Given the description of an element on the screen output the (x, y) to click on. 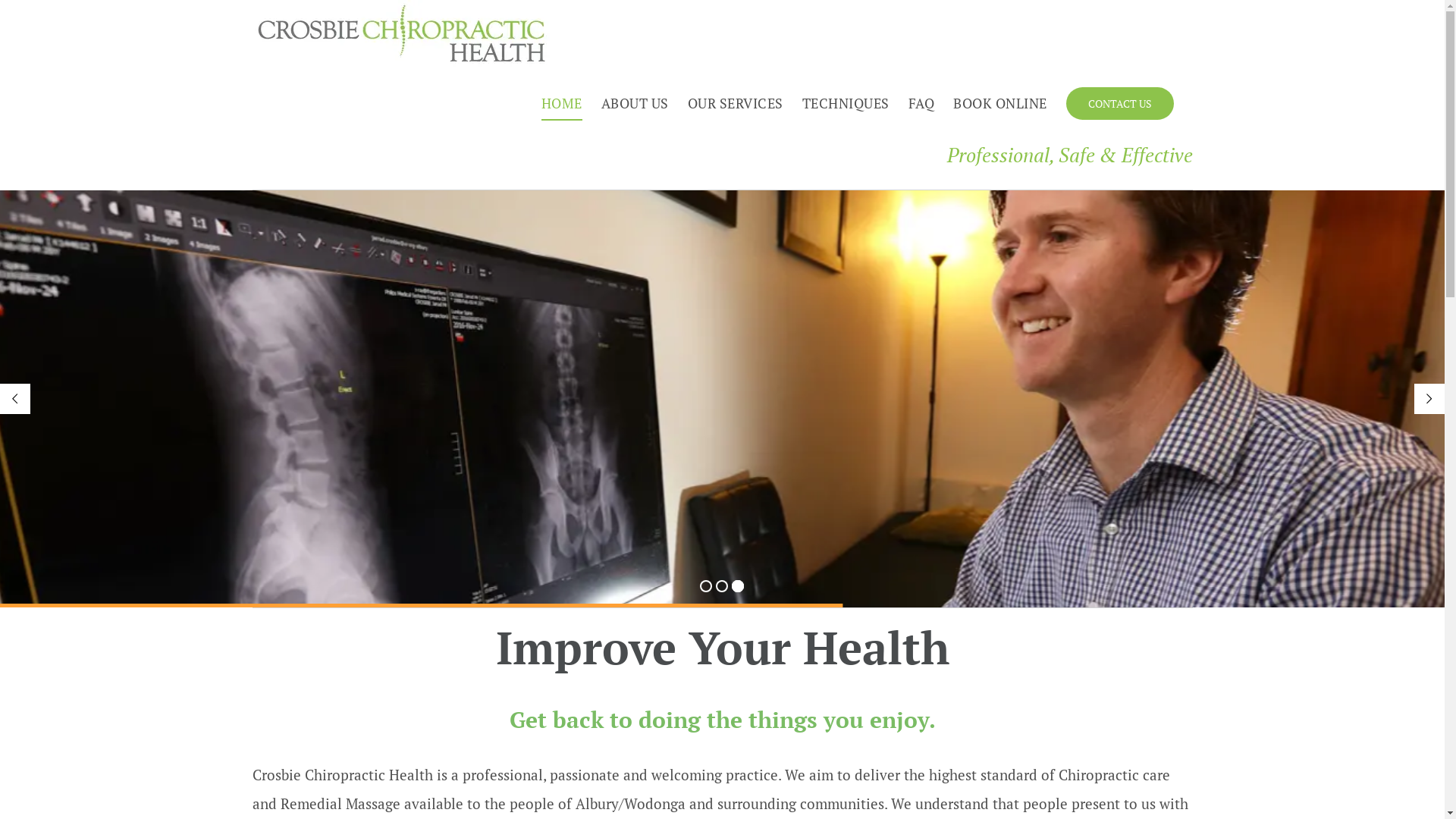
FAQ Element type: text (921, 102)
ABOUT US Element type: text (634, 102)
TECHNIQUES Element type: text (845, 102)
BOOK ONLINE Element type: text (1000, 102)
HOME Element type: text (561, 102)
CONTACT US Element type: text (1119, 102)
OUR SERVICES Element type: text (734, 102)
